Given the description of an element on the screen output the (x, y) to click on. 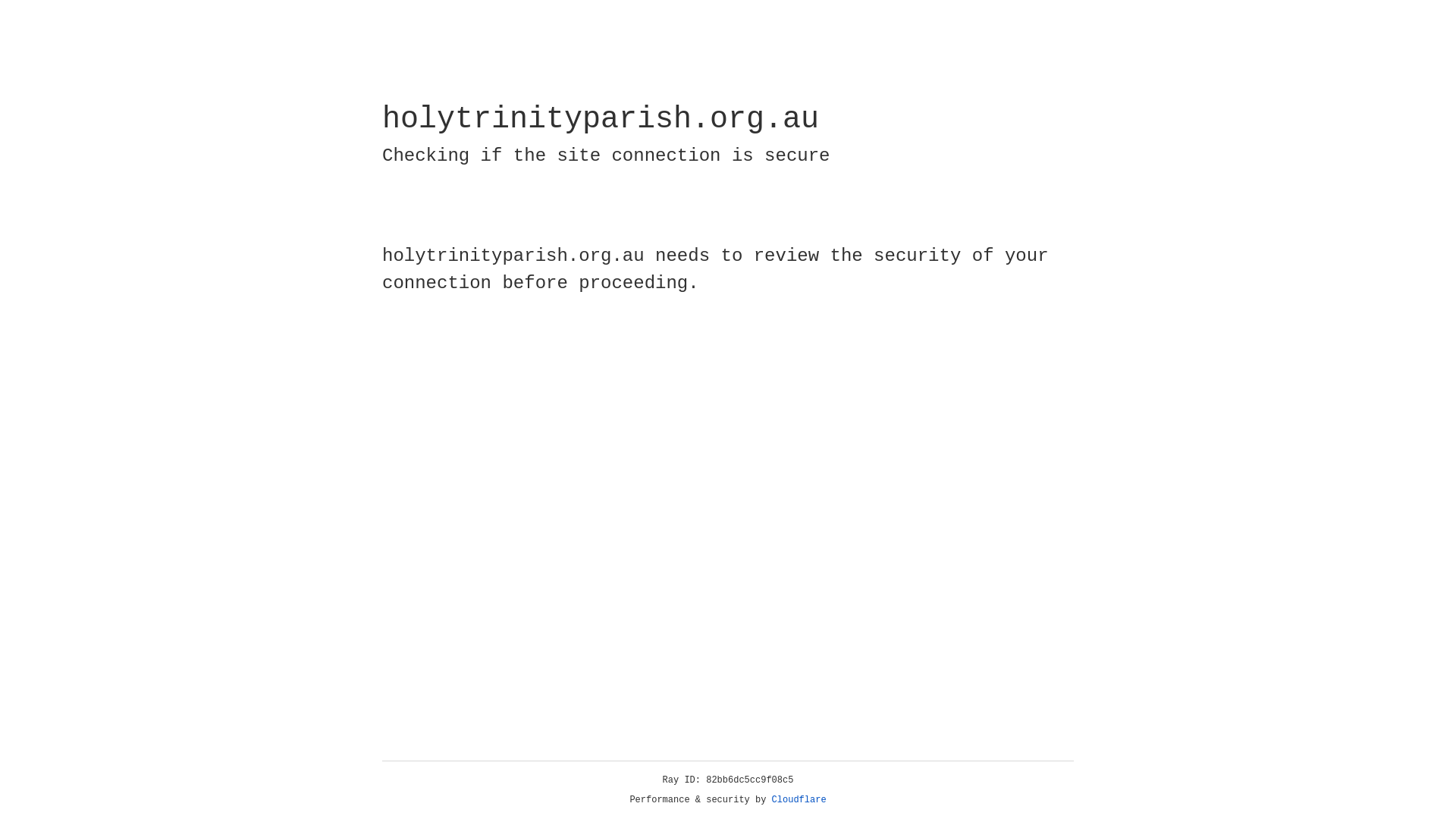
Cloudflare Element type: text (798, 799)
